Given the description of an element on the screen output the (x, y) to click on. 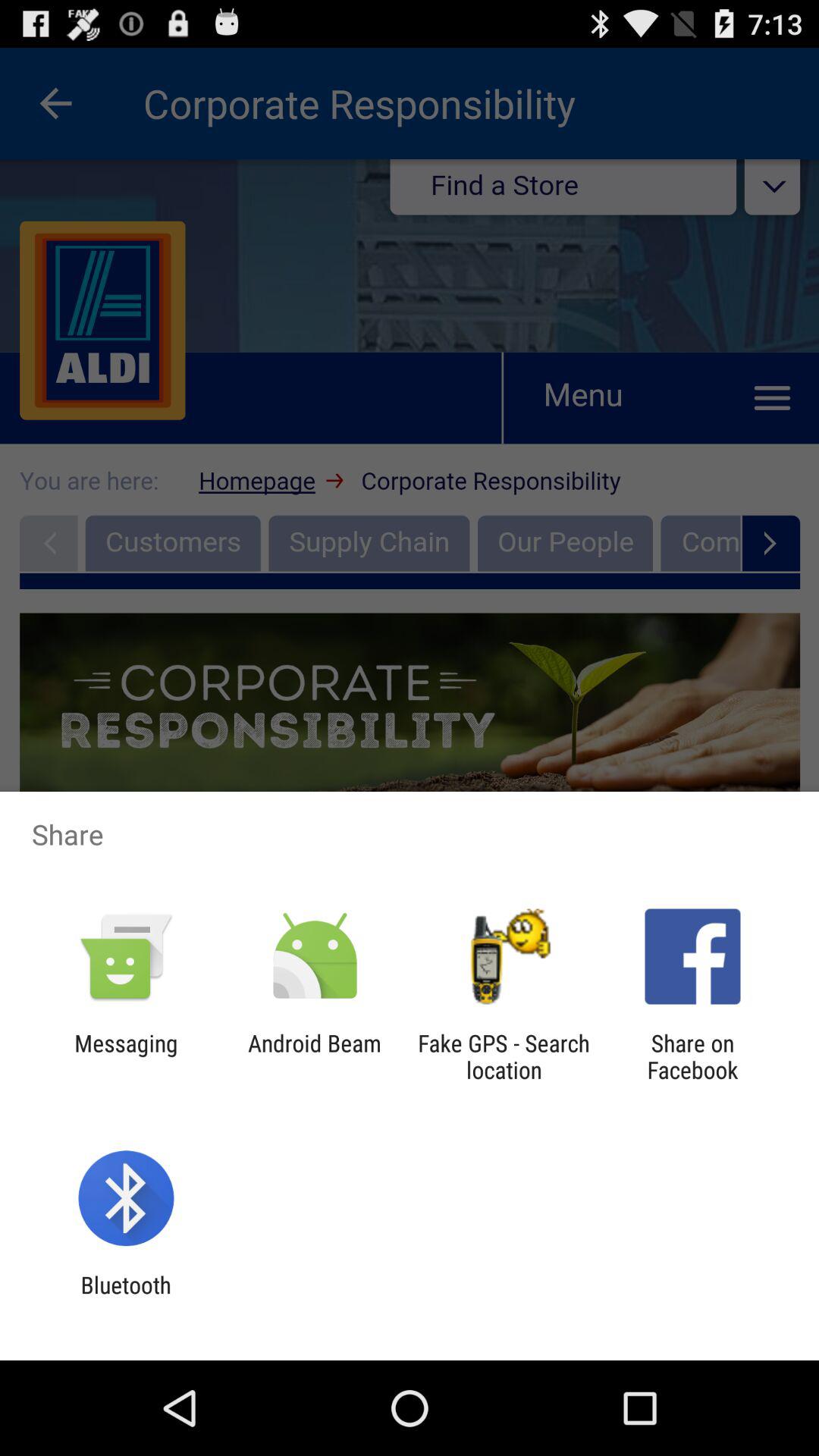
turn on the icon to the right of messaging icon (314, 1056)
